Given the description of an element on the screen output the (x, y) to click on. 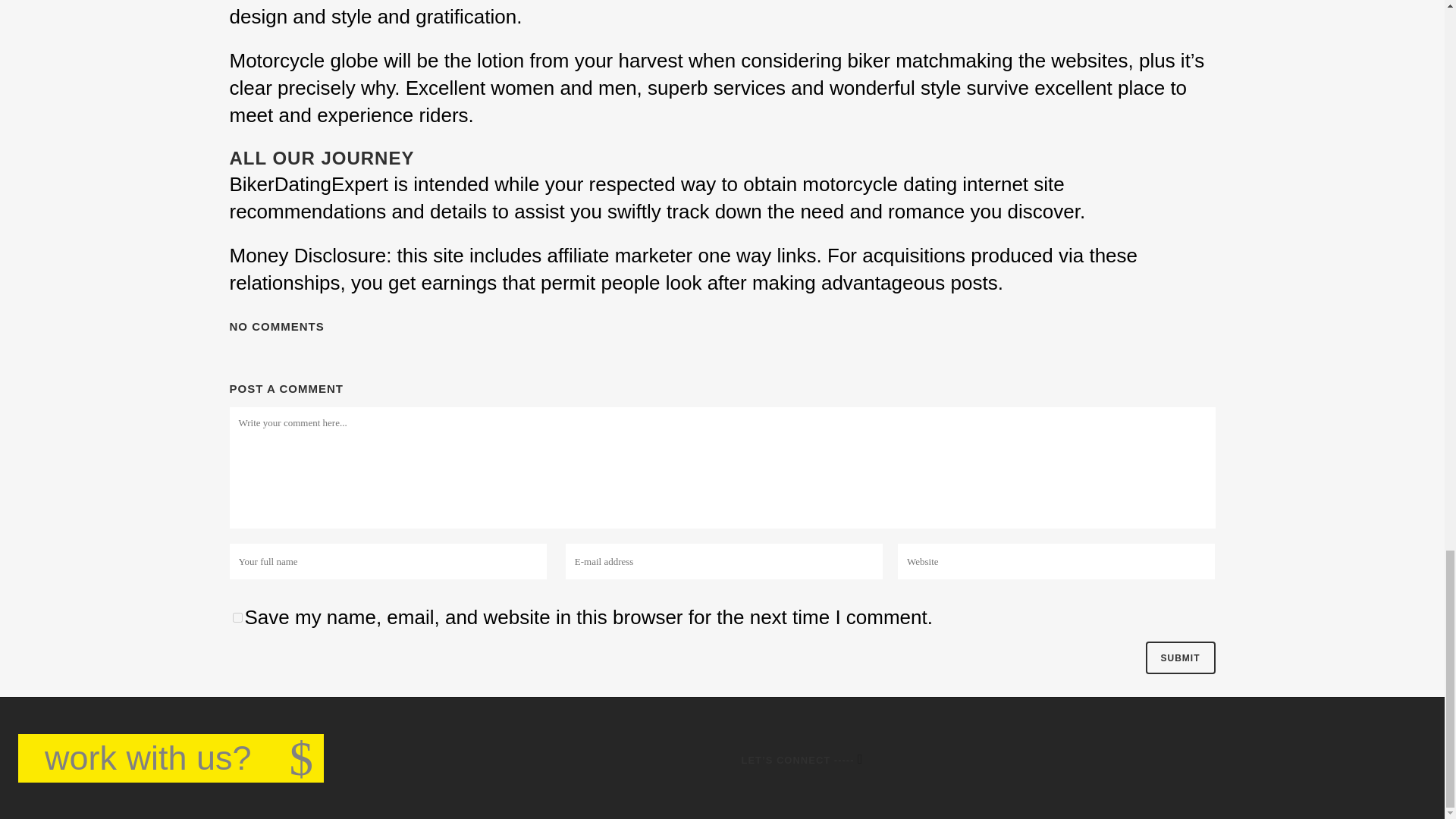
Submit (1179, 657)
Submit (1179, 657)
yes (236, 617)
work with us? (170, 757)
